Given the description of an element on the screen output the (x, y) to click on. 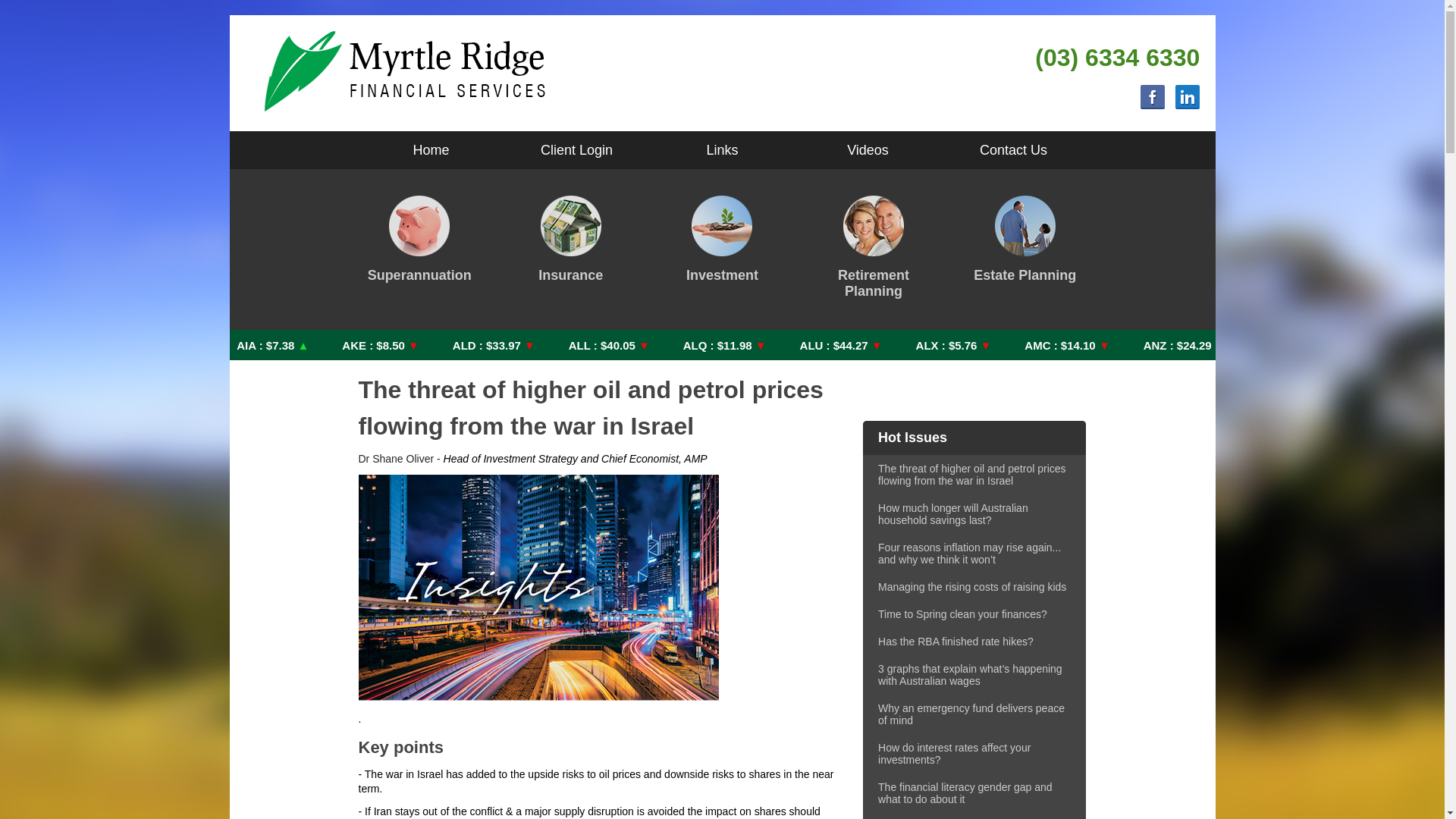
Why an emergency fund delivers peace of mind Element type: text (973, 714)
Contact Us Element type: text (1012, 150)
Has the RBA finished rate hikes? Element type: text (973, 641)
Videos Element type: text (867, 150)
Home Element type: text (430, 150)
Client Login Element type: text (576, 150)
The financial literacy gender gap and what to do about it Element type: text (973, 792)
(03) 6334 6330 Element type: text (1117, 57)
Links Element type: text (721, 150)
Investment Element type: text (722, 241)
Estate Planning Element type: text (1024, 241)
Insurance Element type: text (570, 241)
Superannuation Element type: text (418, 241)
How much longer will Australian household savings last? Element type: text (973, 513)
How do interest rates affect your investments? Element type: text (973, 753)
Managing the rising costs of raising kids Element type: text (973, 586)
Time to Spring clean your finances? Element type: text (973, 613)
Retirement Planning Element type: text (873, 249)
